Given the description of an element on the screen output the (x, y) to click on. 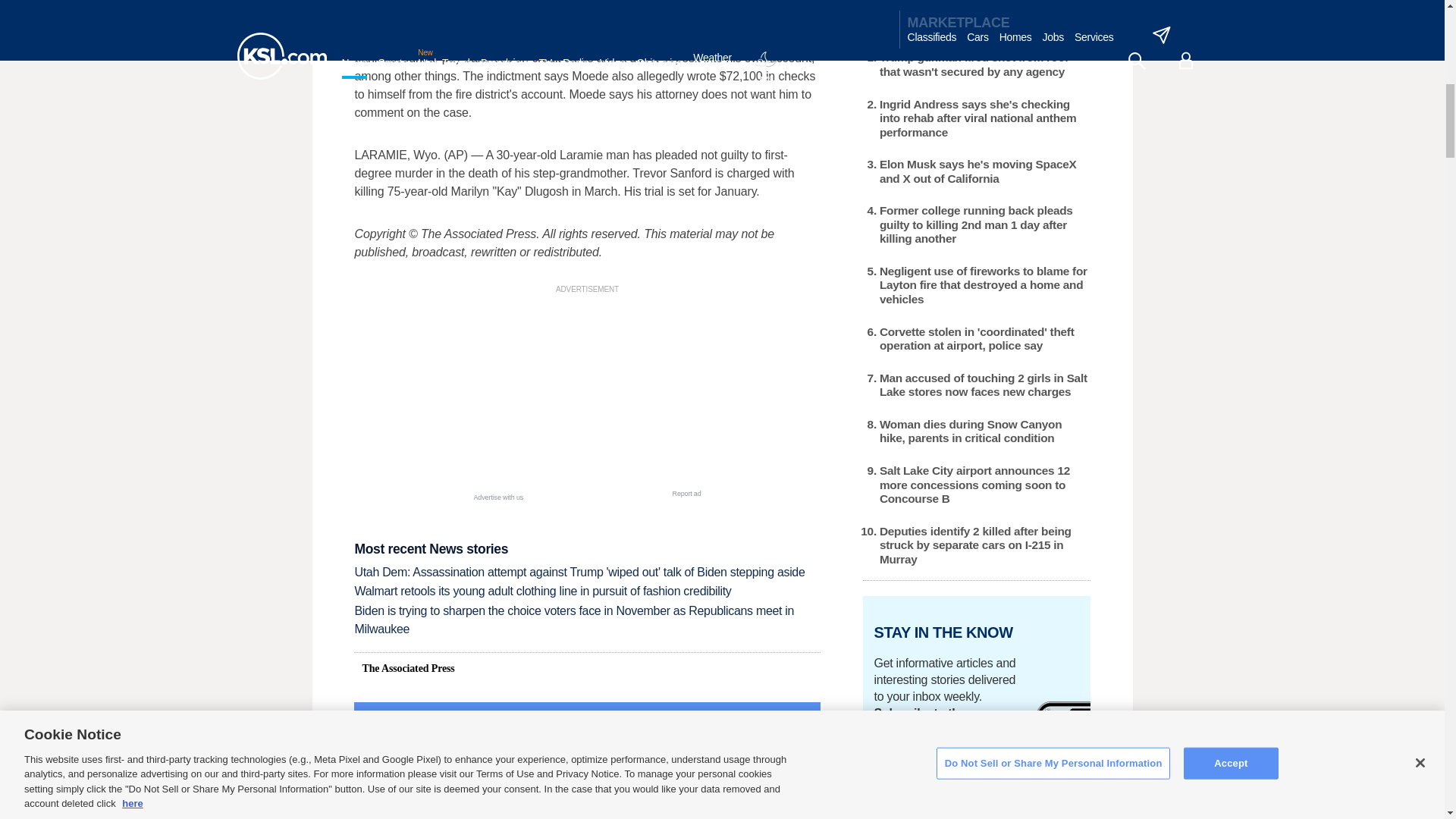
3rd party ad content (586, 392)
